Given the description of an element on the screen output the (x, y) to click on. 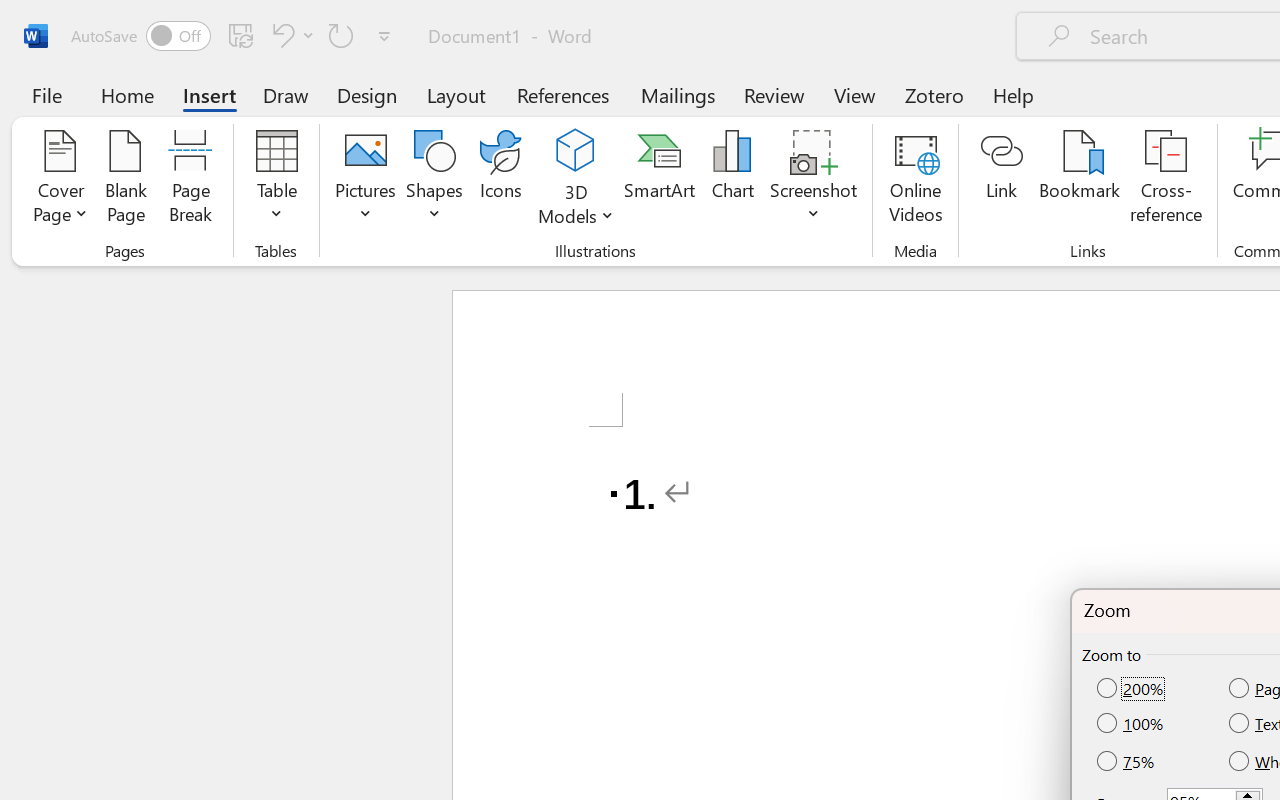
Online Videos... (915, 179)
Screenshot (813, 179)
Pictures (365, 179)
3D Models (576, 179)
Cover Page (60, 179)
Icons (500, 179)
200% (1131, 689)
